Given the description of an element on the screen output the (x, y) to click on. 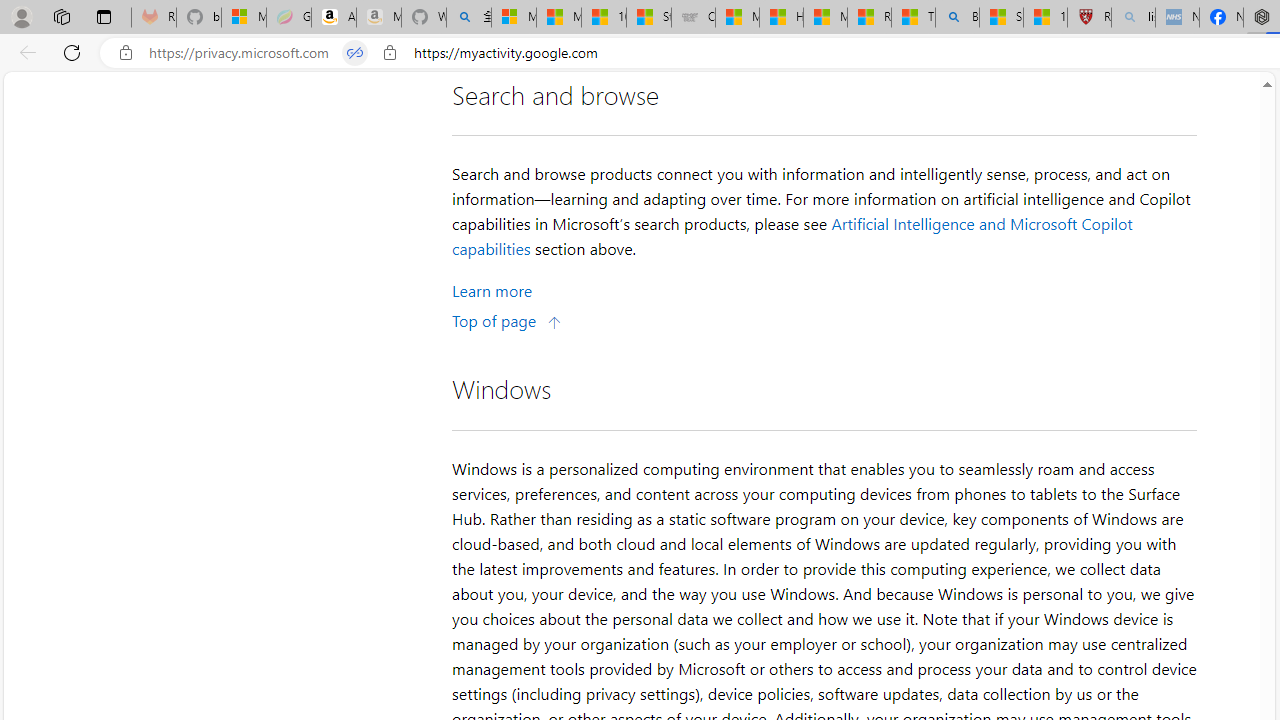
Artificial Intelligence and Microsoft Copilot capabilities (791, 235)
12 Popular Science Lies that Must be Corrected (1045, 17)
Personal Profile (21, 16)
Combat Siege (693, 17)
Tabs in split screen (354, 53)
Workspaces (61, 16)
How I Got Rid of Microsoft Edge's Unnecessary Features (781, 17)
Robert H. Shmerling, MD - Harvard Health (1089, 17)
NCL Adult Asthma Inhaler Choice Guideline - Sleeping (1177, 17)
Refresh (72, 52)
